Given the description of an element on the screen output the (x, y) to click on. 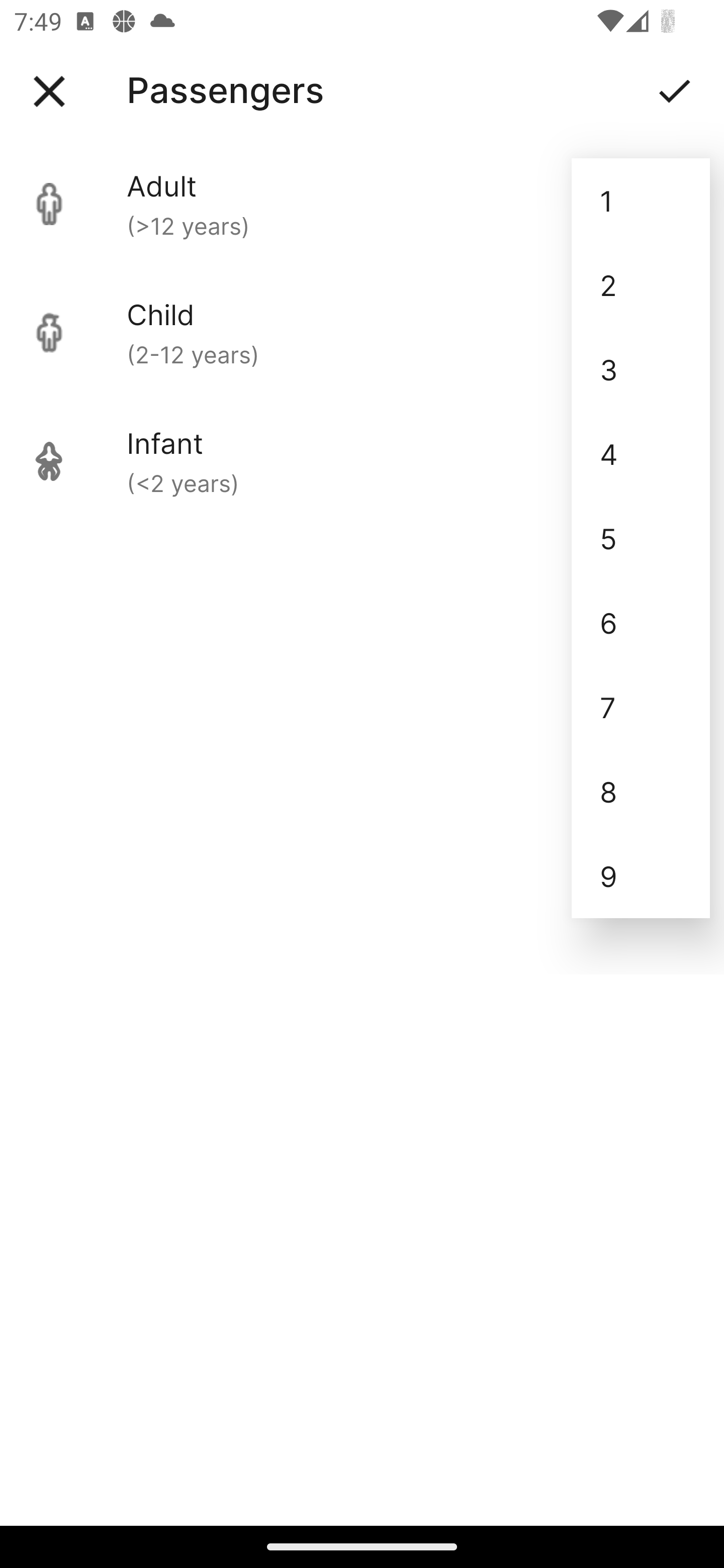
1 (640, 200)
2 (640, 285)
3 (640, 368)
4 (640, 452)
5 (640, 537)
6 (640, 622)
7 (640, 706)
8 (640, 791)
9 (640, 876)
